Given the description of an element on the screen output the (x, y) to click on. 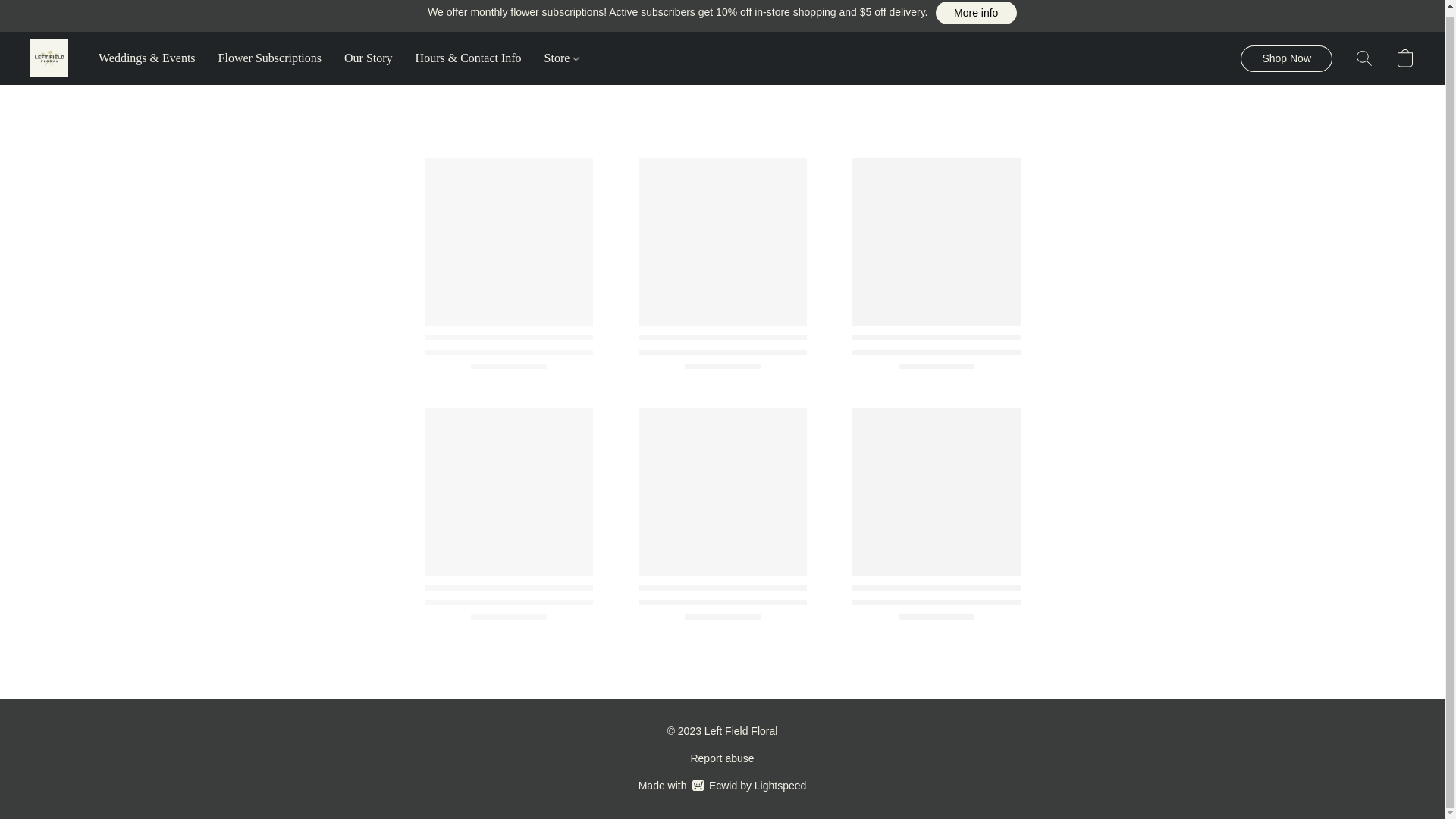
Go to your shopping cart (1404, 58)
More info (976, 12)
Shop Now (722, 785)
Our Story (1286, 58)
Flower Subscriptions (368, 58)
Search the website (269, 58)
Report abuse (1363, 58)
Store (722, 758)
